Given the description of an element on the screen output the (x, y) to click on. 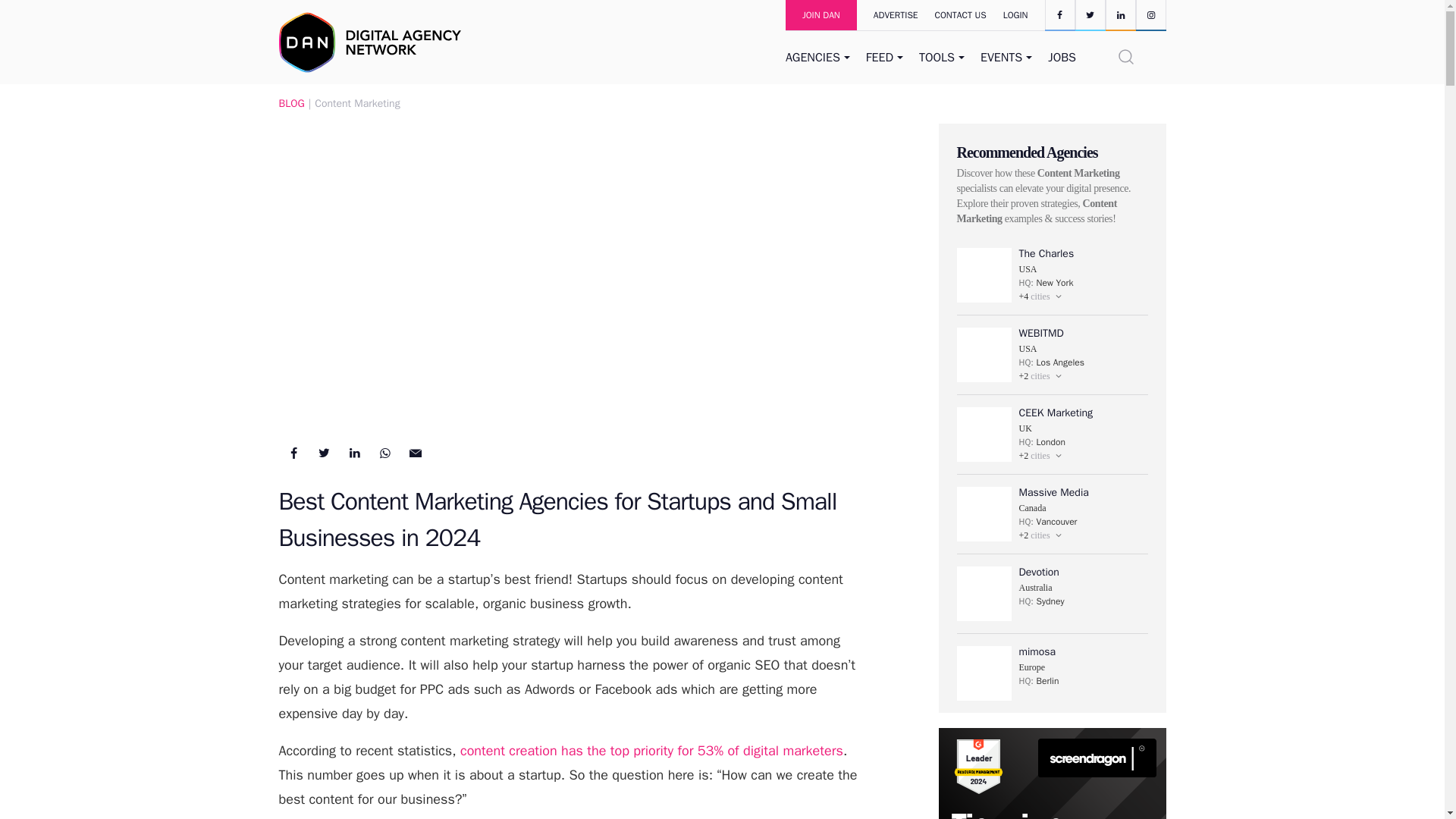
Instagram (1150, 14)
ADVERTISE (887, 15)
The Charles (983, 274)
Devotion (983, 593)
Linkedin (1120, 14)
AGENCIES (819, 57)
WEBITMD (983, 354)
Massive Media (983, 513)
Massive Media (1054, 492)
CEEK Marketing (983, 433)
